Given the description of an element on the screen output the (x, y) to click on. 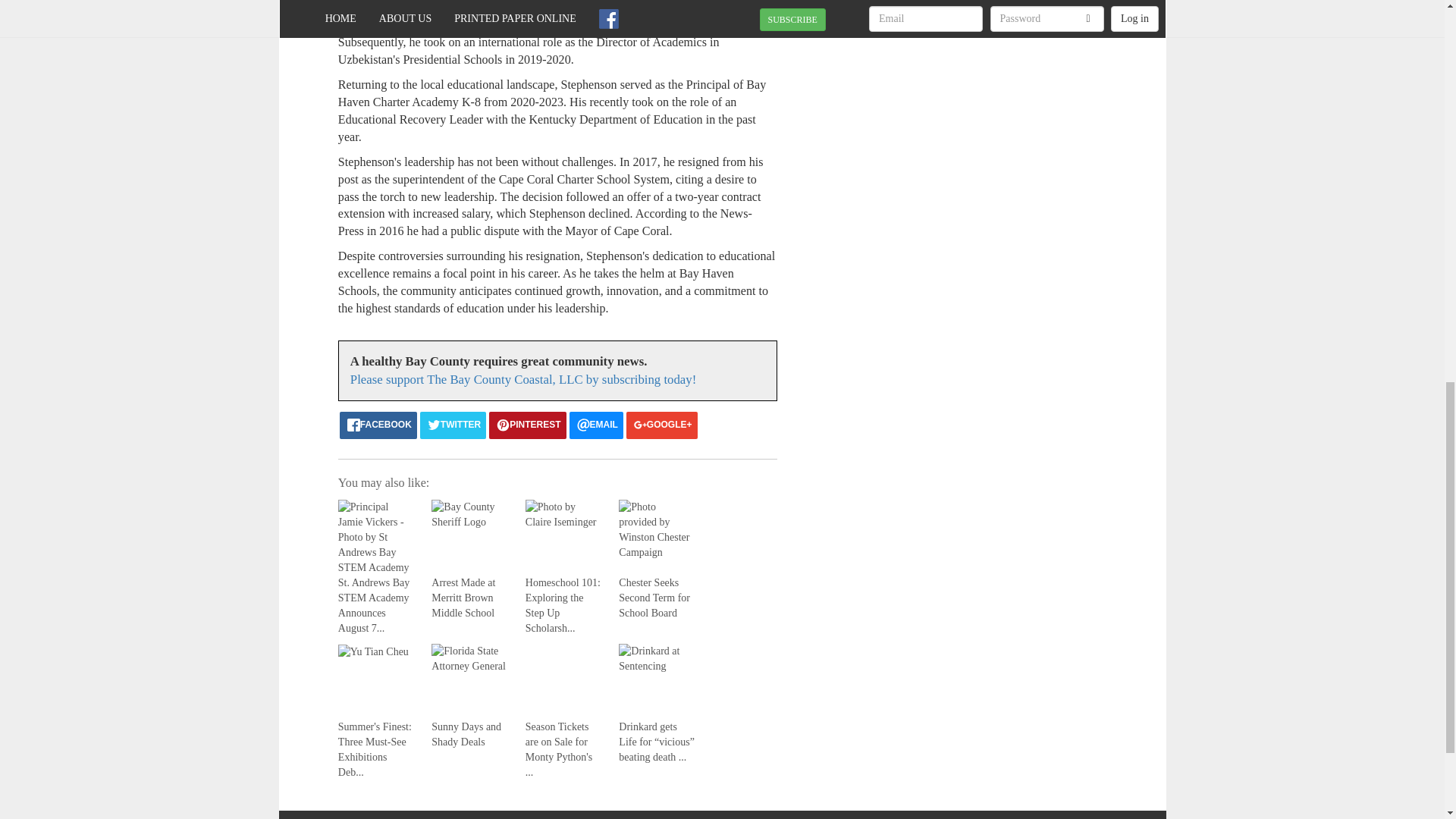
Email (596, 424)
Facebook (377, 424)
Pinterest (527, 424)
Twitter (453, 424)
